Given the description of an element on the screen output the (x, y) to click on. 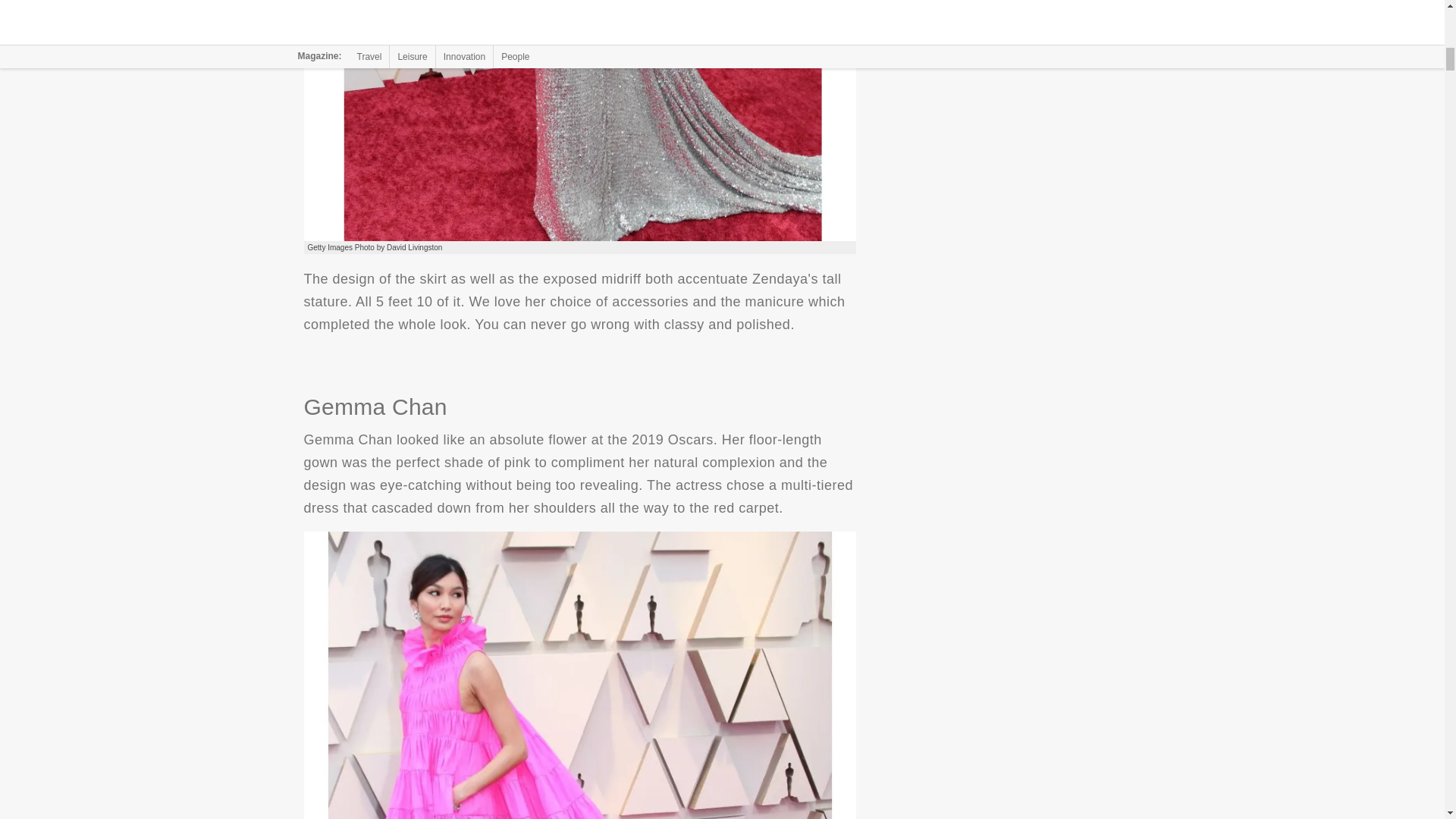
Zendaya (579, 120)
